Given the description of an element on the screen output the (x, y) to click on. 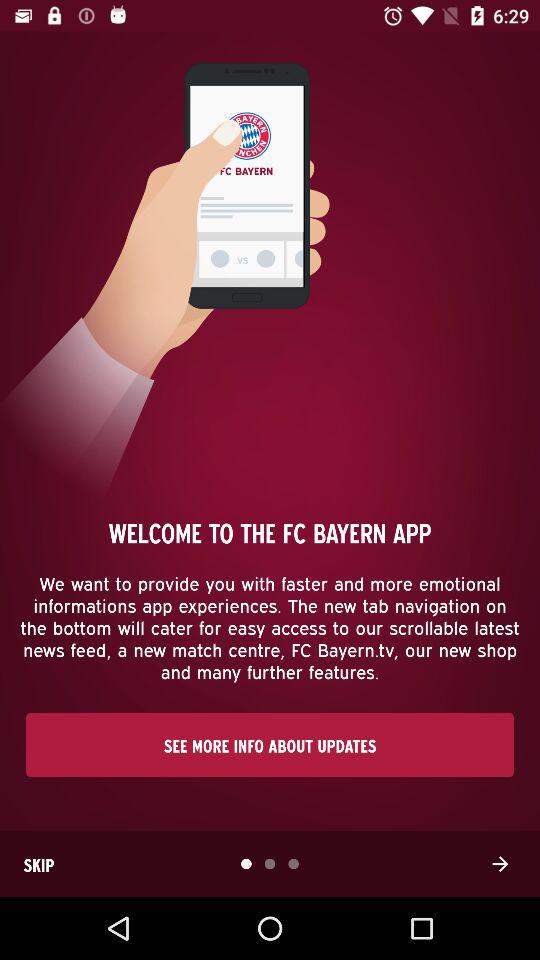
jump to see more info item (269, 744)
